Given the description of an element on the screen output the (x, y) to click on. 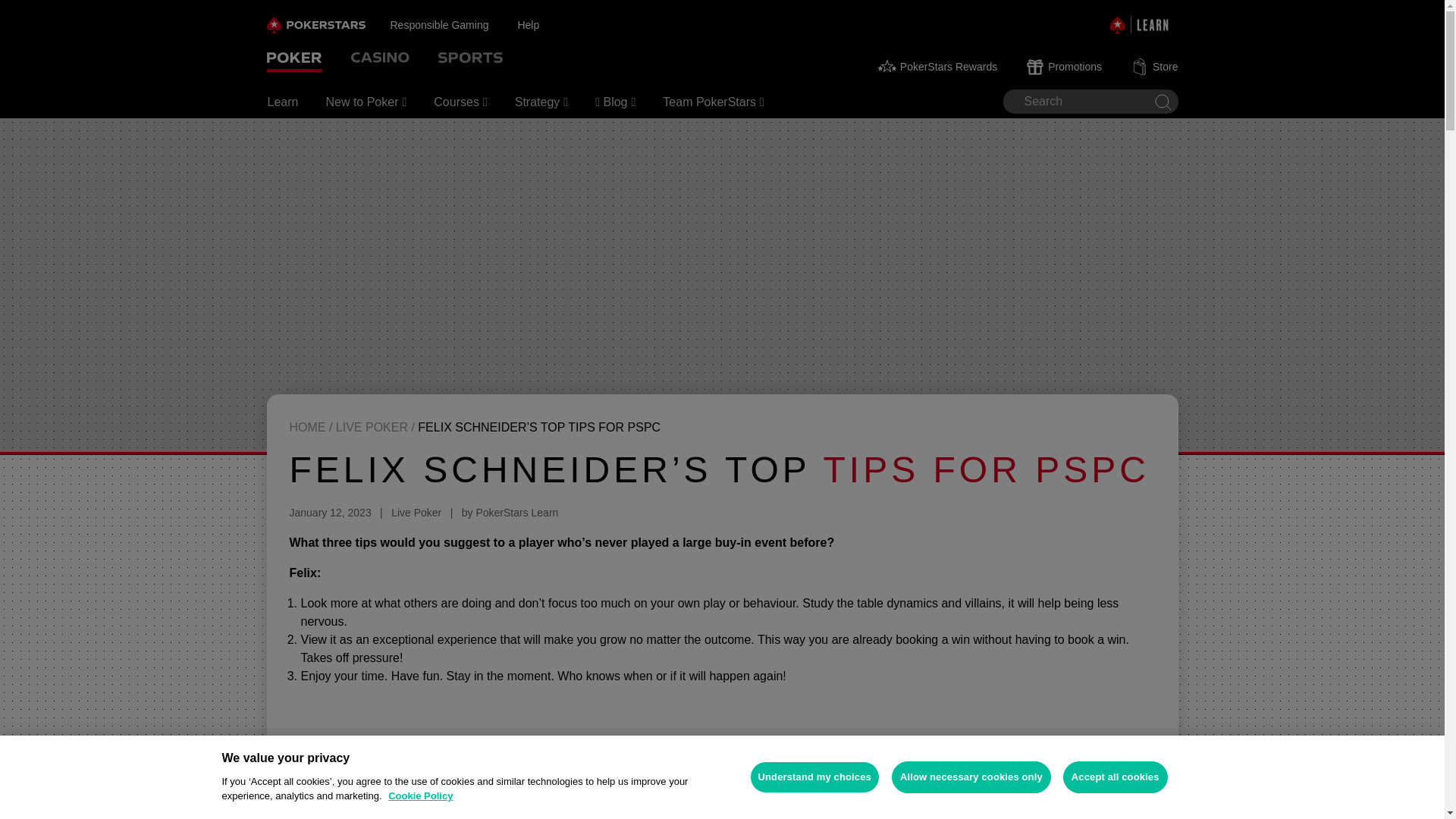
New to Poker (366, 101)
Store (1154, 66)
Responsible Gaming (453, 24)
PokerStars Rewards (937, 66)
Courses (460, 101)
Poker (293, 58)
Casino (379, 58)
Sports (470, 58)
Help (541, 24)
Promotions (1064, 66)
